Given the description of an element on the screen output the (x, y) to click on. 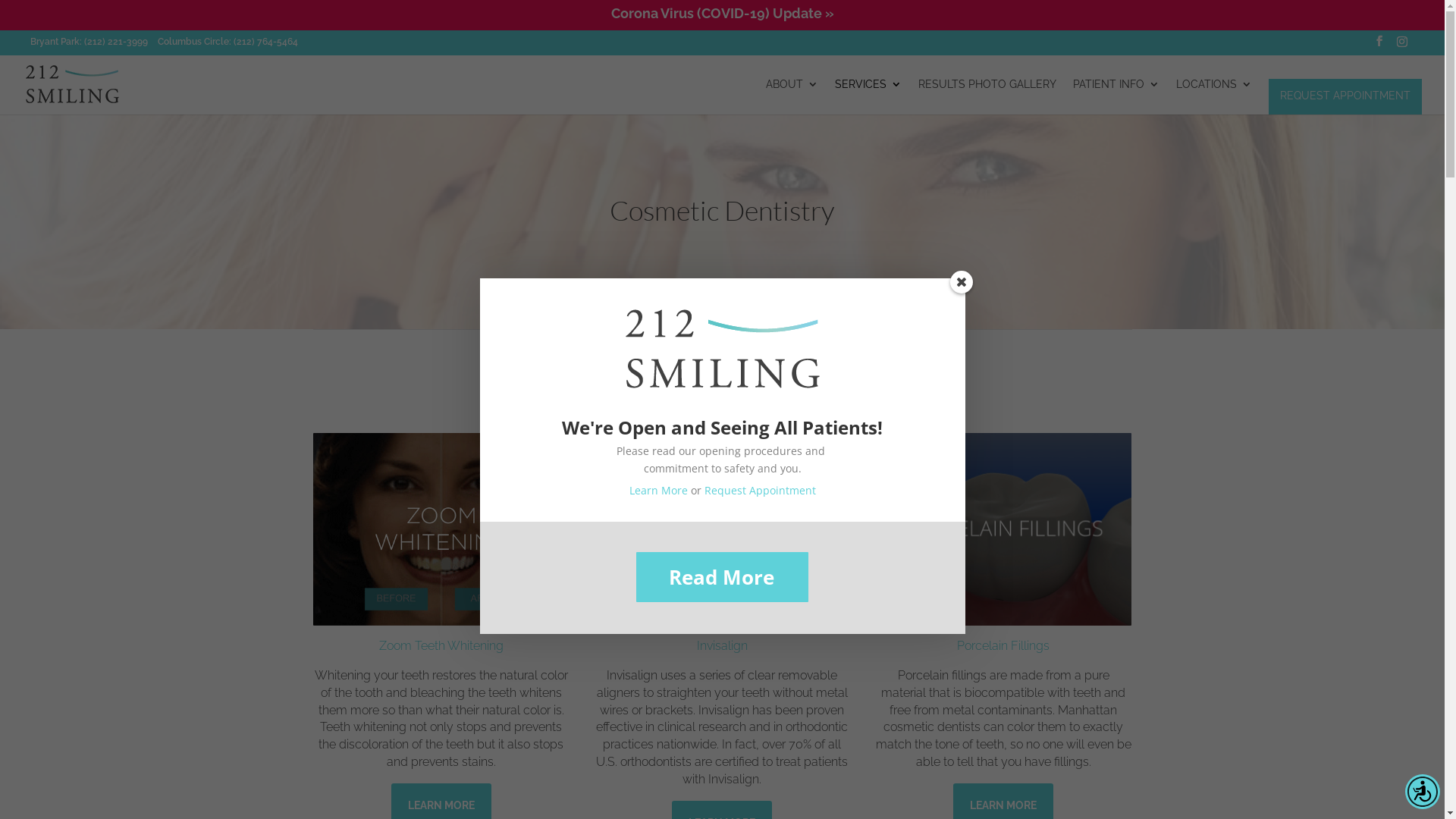
SERVICES Element type: text (867, 96)
Request Appointment Element type: text (759, 490)
Zoom Teeth Whitening Element type: text (441, 645)
RESULTS PHOTO GALLERY Element type: text (987, 96)
Porcelain Fillings Element type: text (1003, 645)
PATIENT INFO Element type: text (1116, 96)
LOCATIONS Element type: text (1214, 96)
Learn More Element type: text (658, 490)
ABOUT Element type: text (791, 96)
Invisalign Element type: text (721, 645)
Columbus Circle: (212) 764-5464 Element type: text (232, 41)
REQUEST APPOINTMENT Element type: text (1344, 95)
Bryant Park: (212) 221-3999 Element type: text (88, 41)
